Given the description of an element on the screen output the (x, y) to click on. 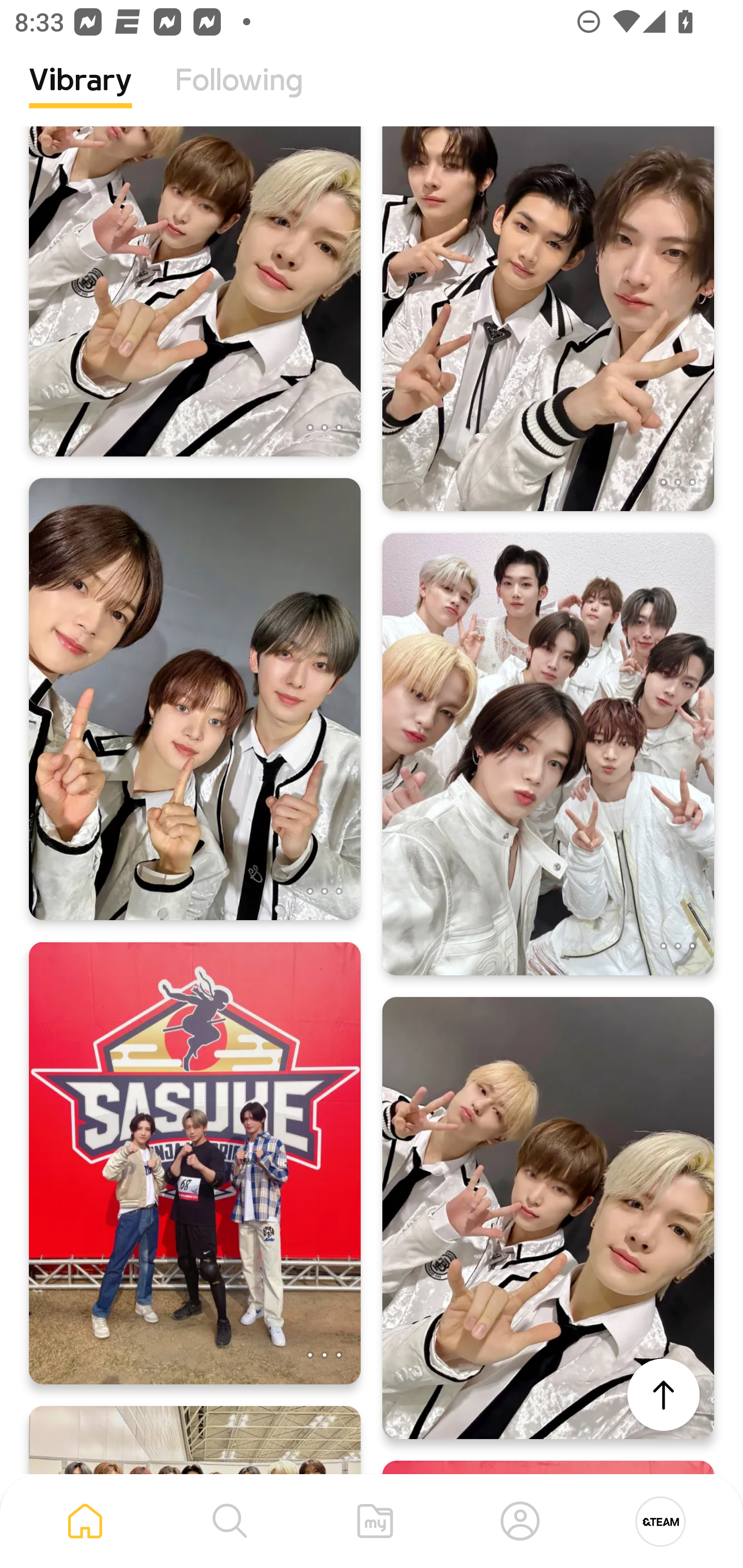
Vibrary (80, 95)
Following (239, 95)
